Given the description of an element on the screen output the (x, y) to click on. 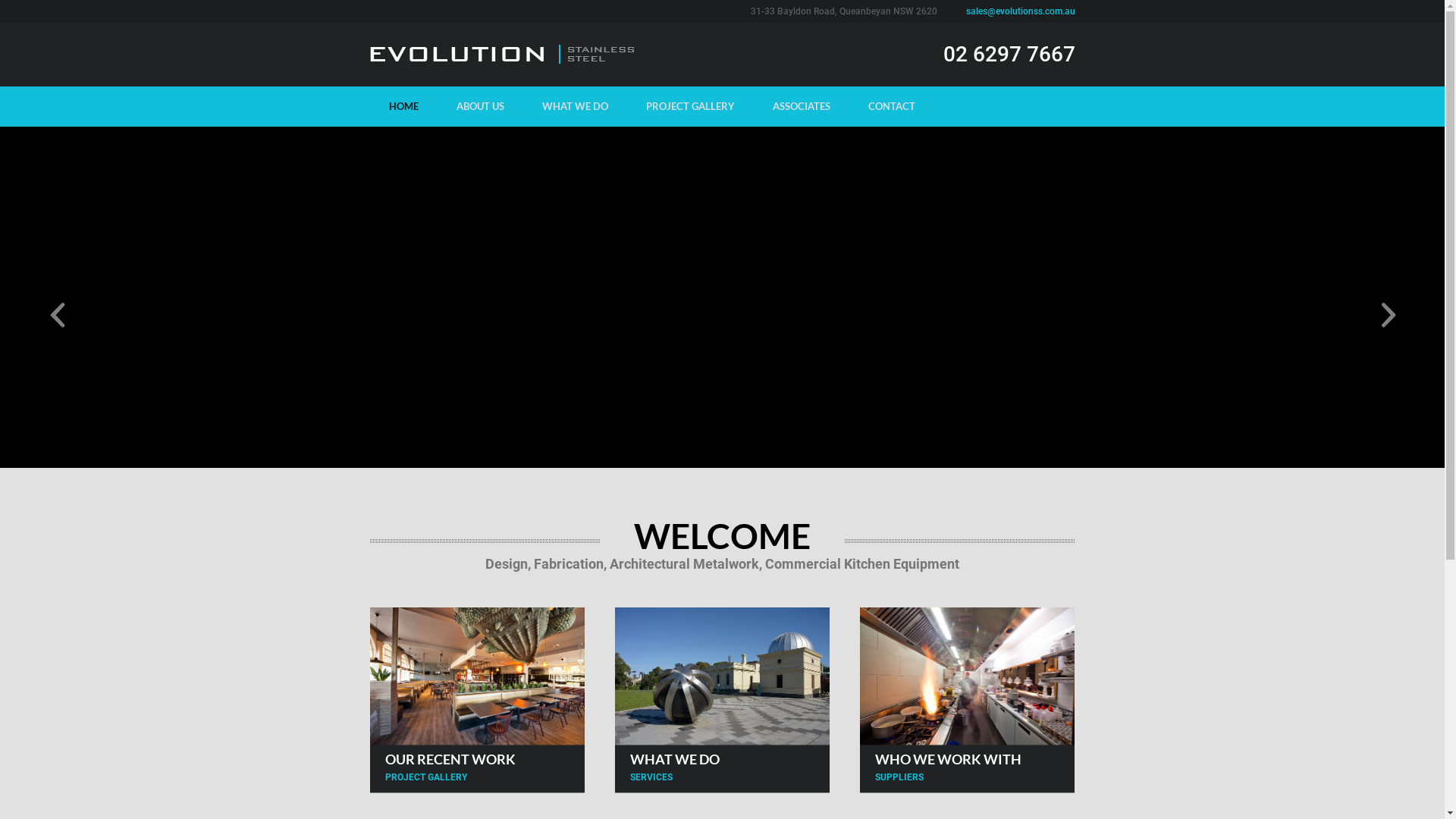
WHAT WE DO Element type: text (674, 758)
sales@evolutionss.com.au Element type: text (1020, 11)
ABOUT US Element type: text (479, 106)
HOME Element type: text (403, 106)
WHAT WE DO Element type: text (575, 106)
PROJECT GALLERY Element type: text (689, 106)
CONTACT Element type: text (891, 106)
WHO WE WORK WITH Element type: text (948, 758)
ASSOCIATES Element type: text (801, 106)
OUR RECENT WORK Element type: text (450, 758)
